Given the description of an element on the screen output the (x, y) to click on. 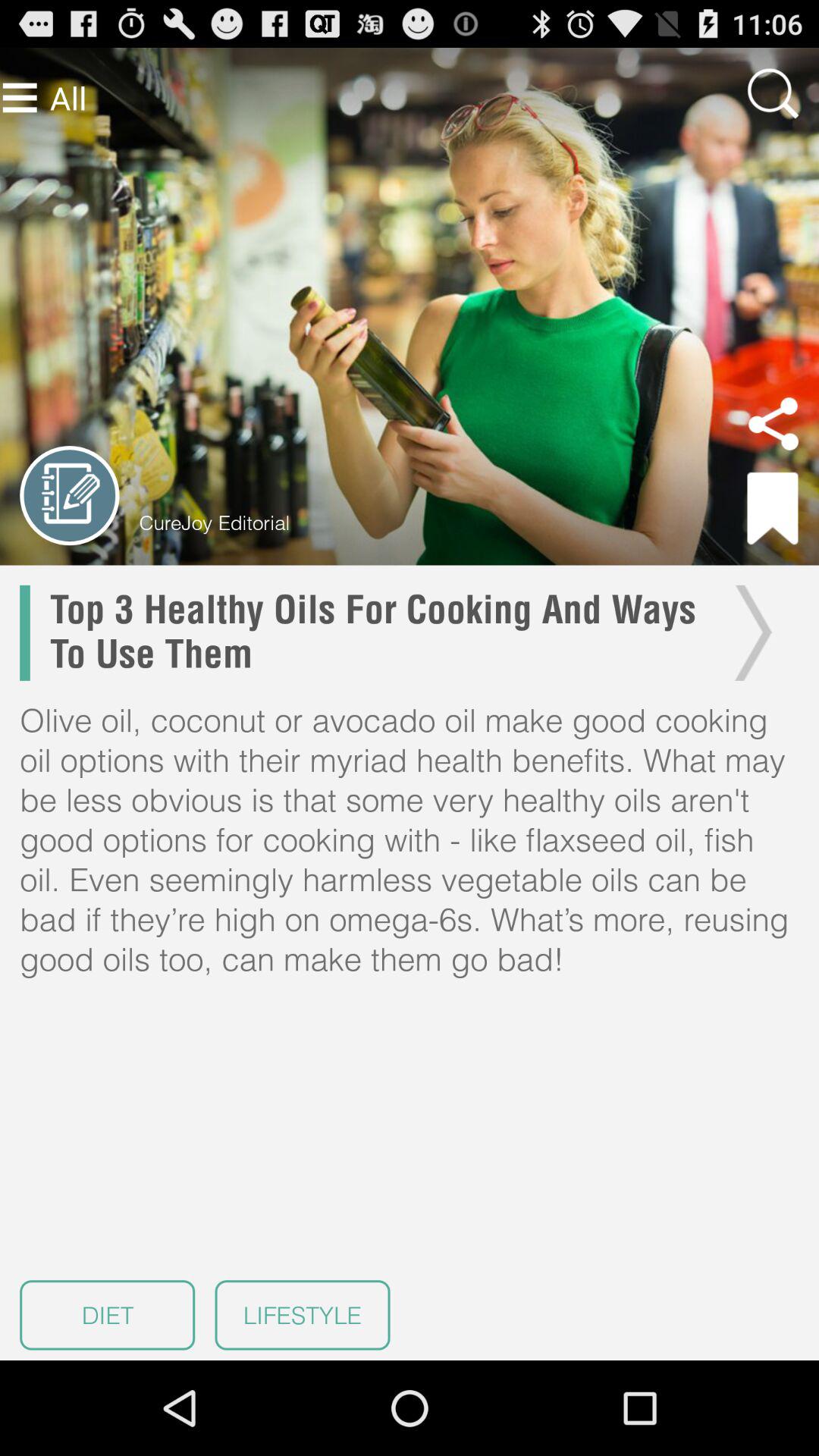
click icon above the olive oil coconut icon (749, 632)
